Given the description of an element on the screen output the (x, y) to click on. 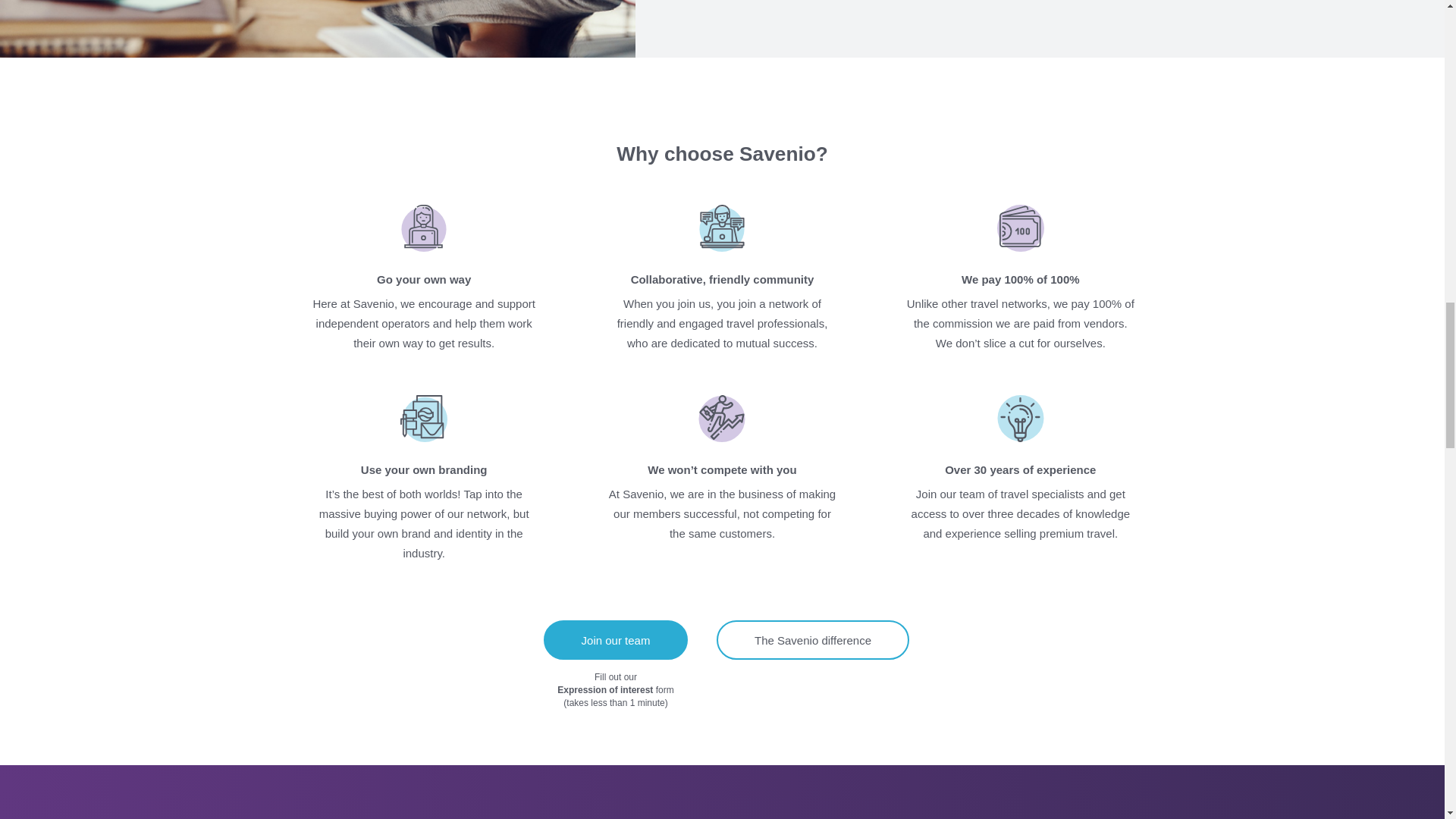
The Savenio difference (812, 639)
Join our team (615, 639)
